Given the description of an element on the screen output the (x, y) to click on. 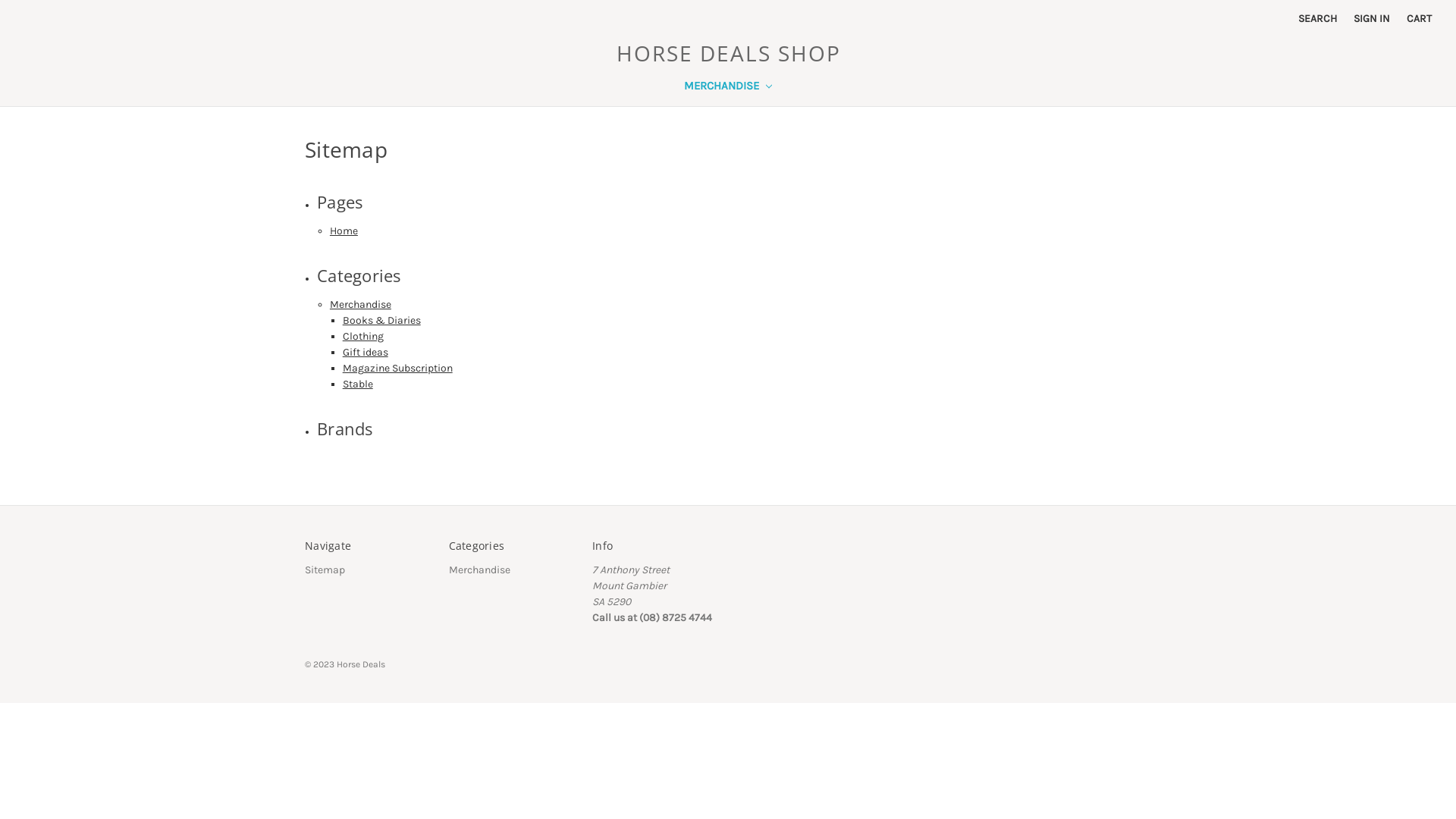
Gift ideas Element type: text (365, 351)
SEARCH Element type: text (1317, 18)
Stable Element type: text (357, 383)
Clothing Element type: text (362, 335)
Sitemap Element type: text (324, 569)
CART Element type: text (1419, 18)
MERCHANDISE Element type: text (727, 87)
Magazine Subscription Element type: text (397, 367)
Books & Diaries Element type: text (381, 319)
Home Element type: text (343, 230)
Merchandise Element type: text (360, 304)
SIGN IN Element type: text (1371, 18)
Merchandise Element type: text (479, 569)
